Given the description of an element on the screen output the (x, y) to click on. 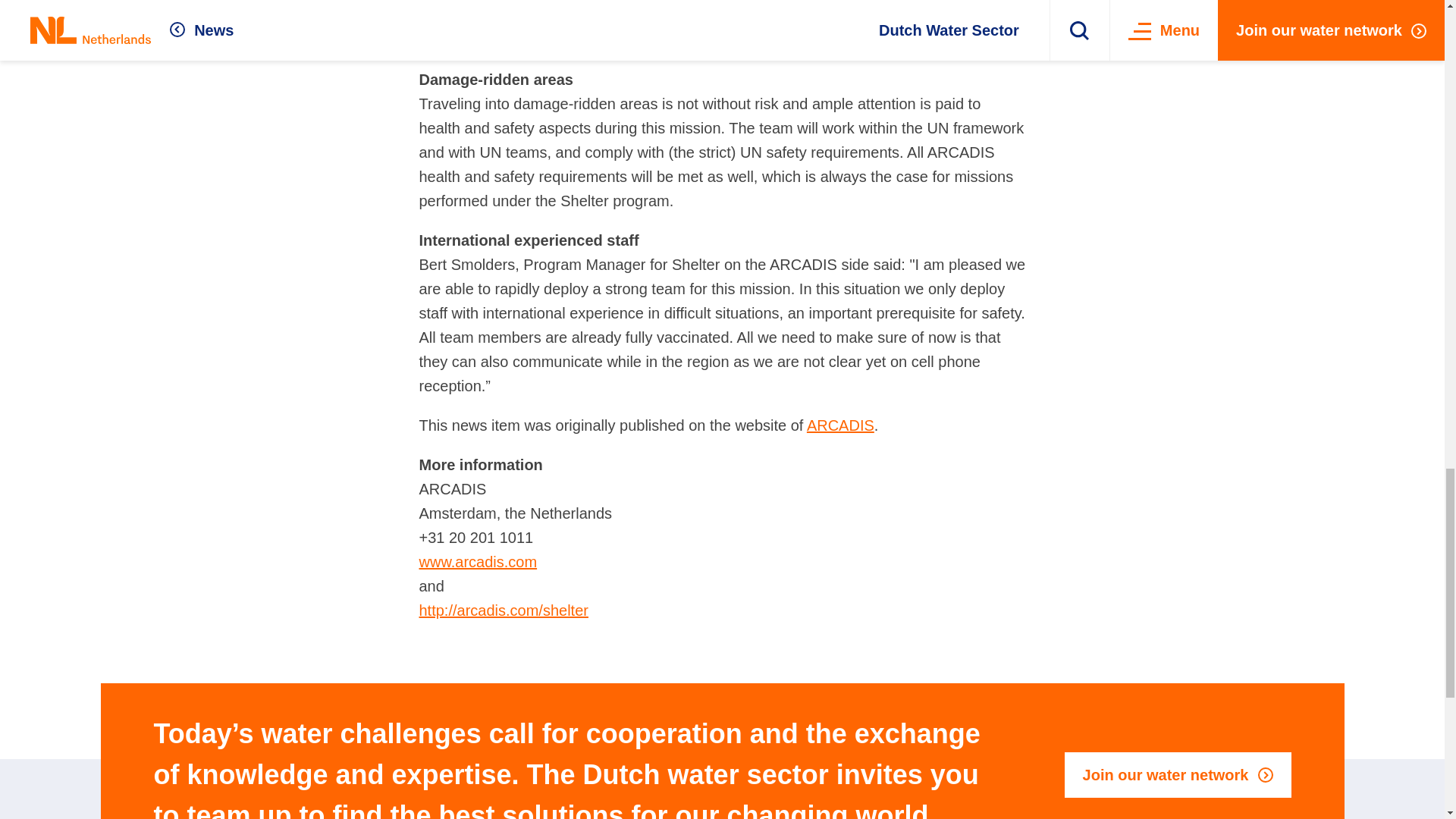
ARCADIS (840, 425)
www.arcadis.com (478, 561)
Join our water network (1177, 774)
